Given the description of an element on the screen output the (x, y) to click on. 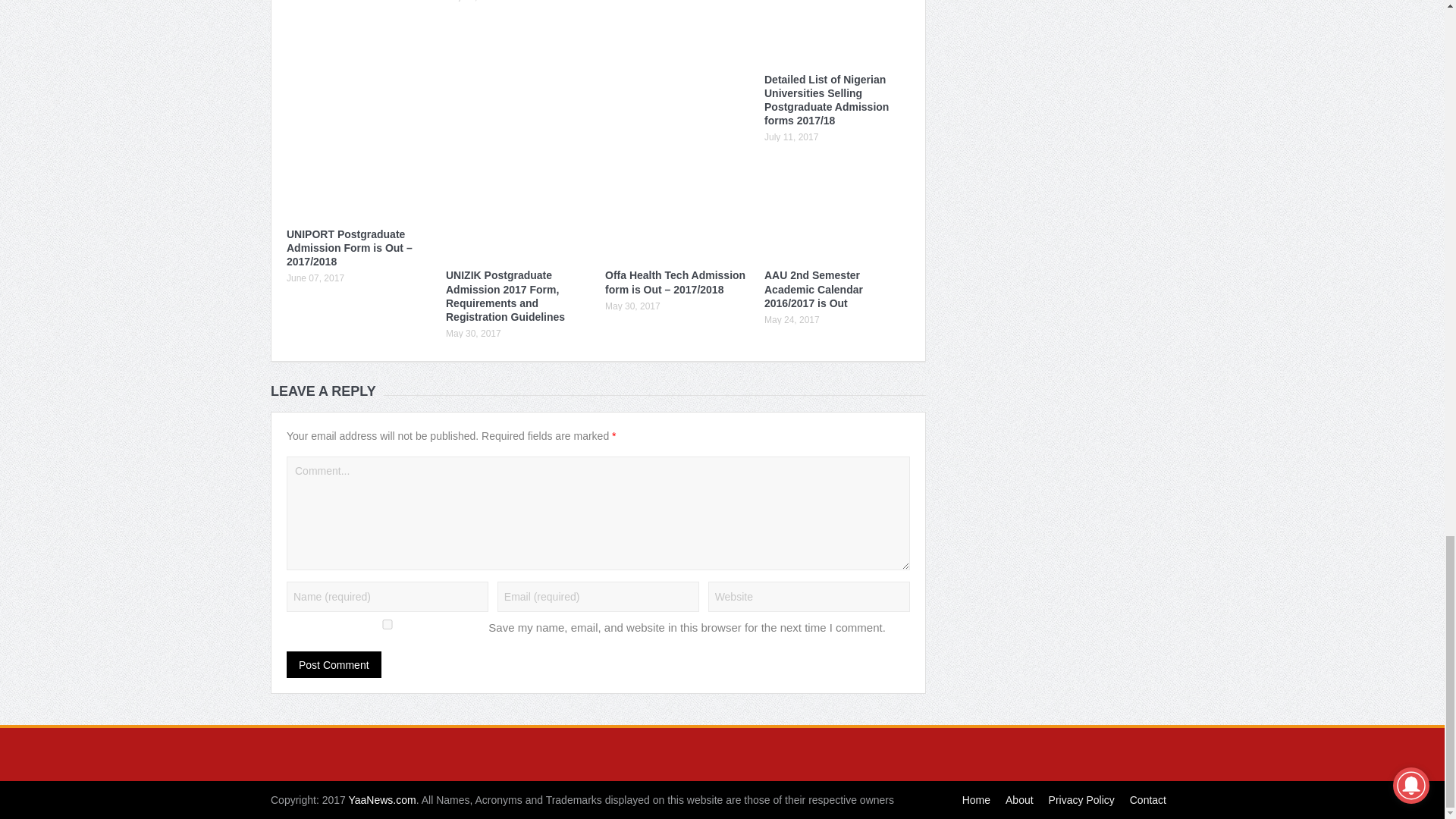
Post Comment (333, 664)
yes (386, 624)
